Given the description of an element on the screen output the (x, y) to click on. 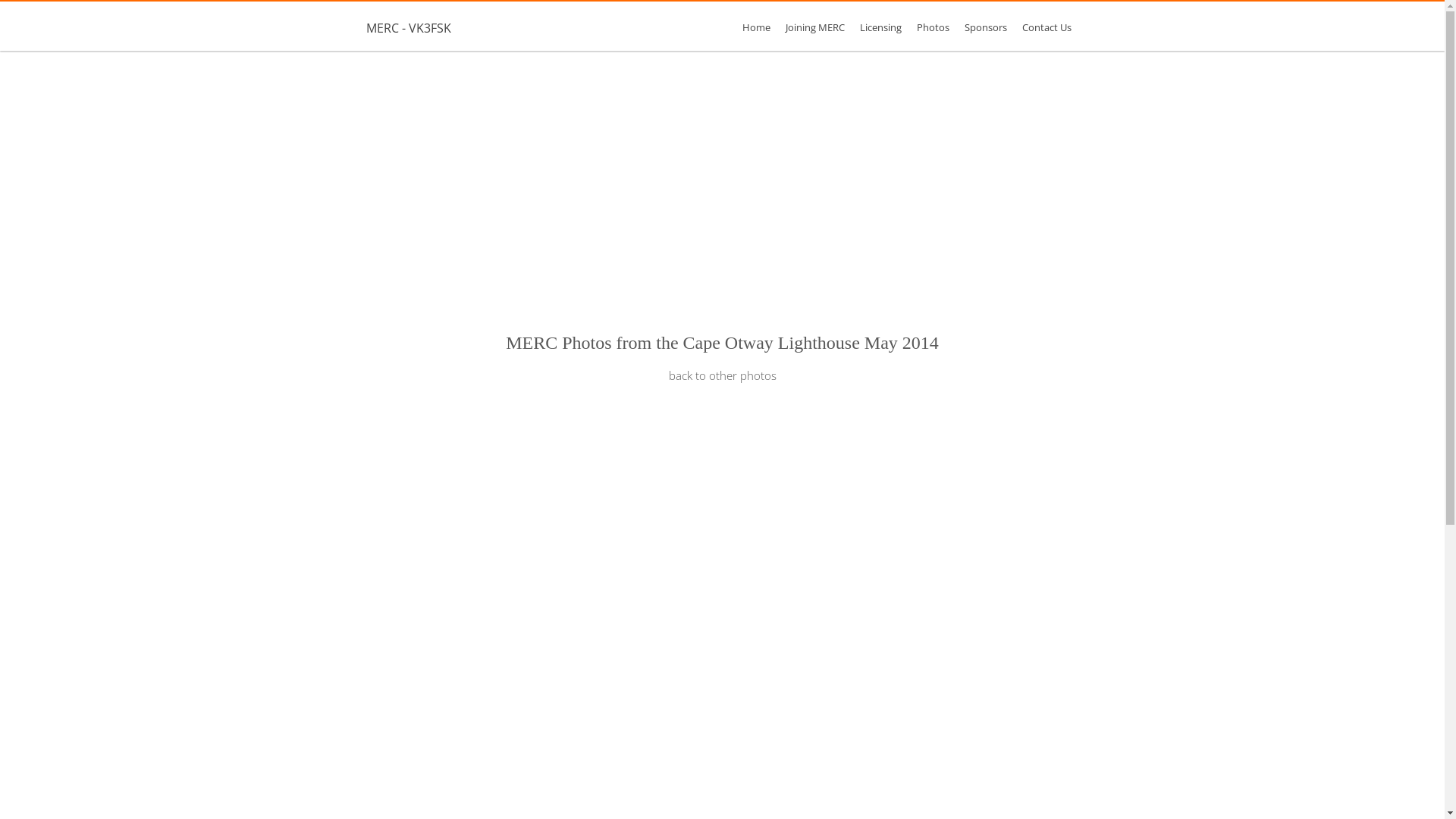
back to other photos Element type: text (722, 374)
Contact Us Element type: text (1046, 27)
Joining MERC Element type: text (814, 27)
Photos Element type: text (932, 27)
Sponsors Element type: text (985, 27)
Licensing Element type: text (880, 27)
MERC - VK3FSK Element type: text (407, 27)
Home Element type: text (755, 27)
